Given the description of an element on the screen output the (x, y) to click on. 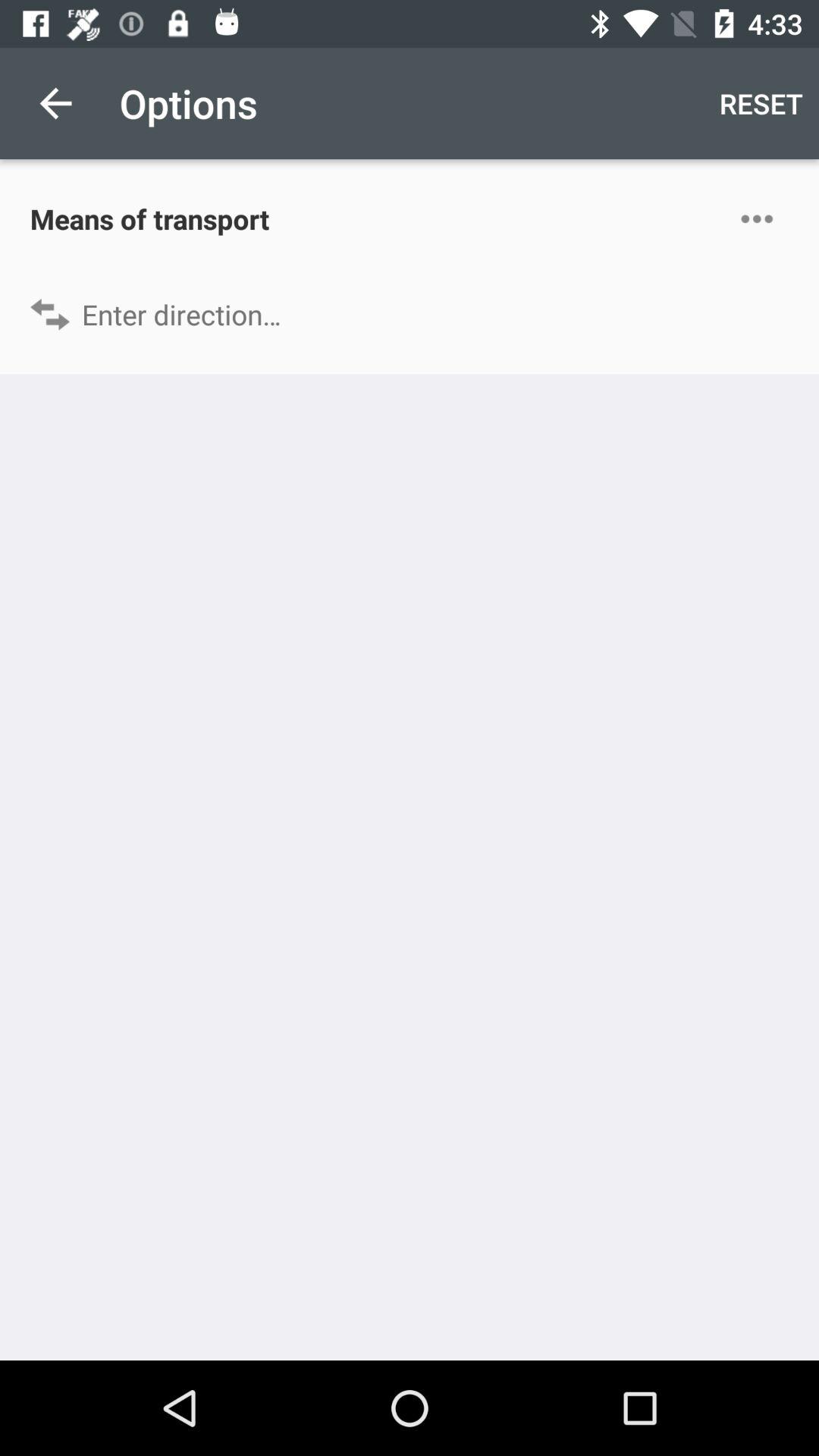
turn on the reset item (761, 103)
